Given the description of an element on the screen output the (x, y) to click on. 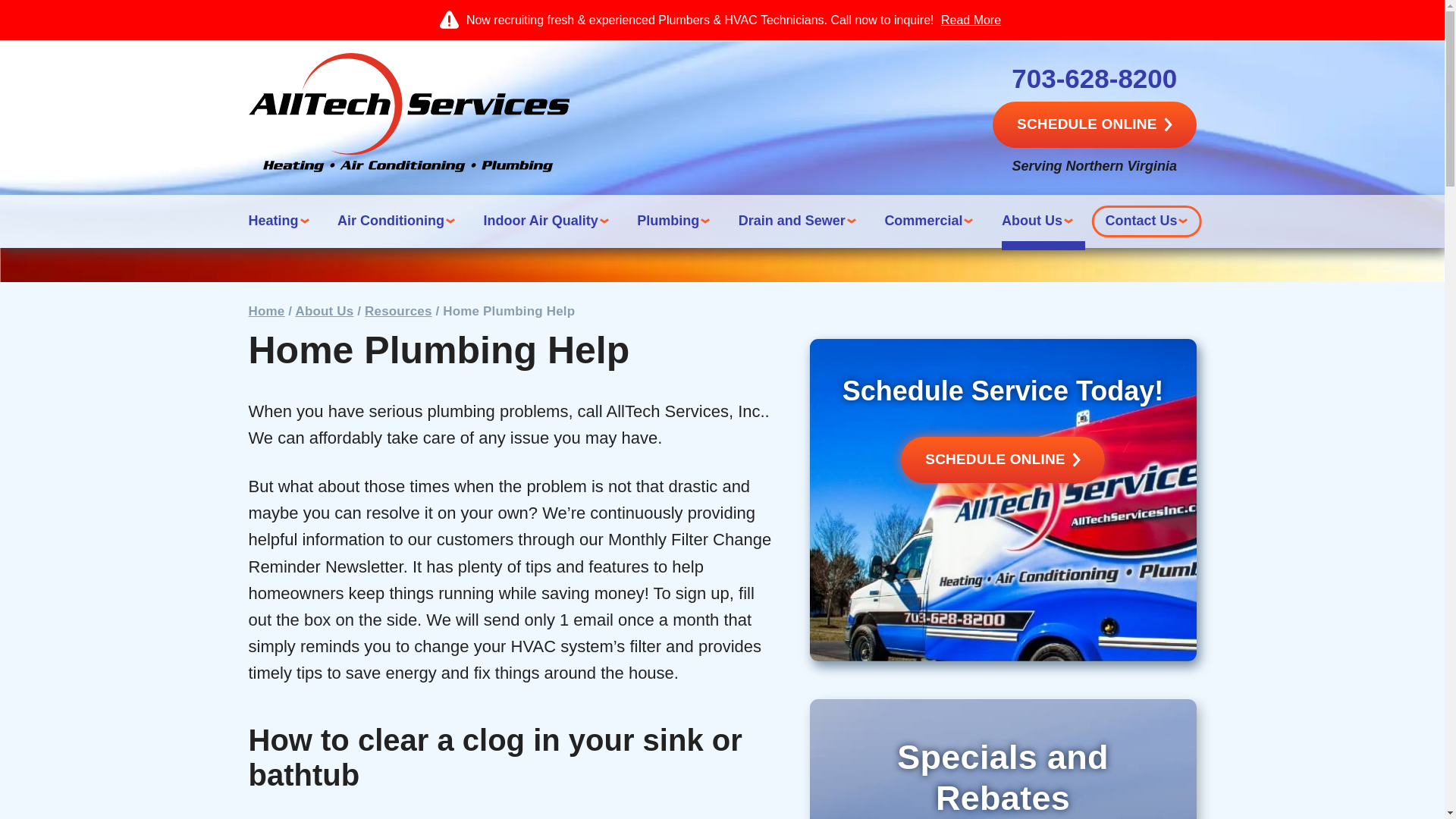
Heating (282, 221)
Read More (970, 19)
Indoor Air Quality (549, 221)
Plumbing (677, 221)
About Us (324, 310)
SCHEDULE ONLINE (1093, 124)
Air Conditioning (400, 221)
703-628-8200 (1093, 78)
Resources (397, 310)
